Given the description of an element on the screen output the (x, y) to click on. 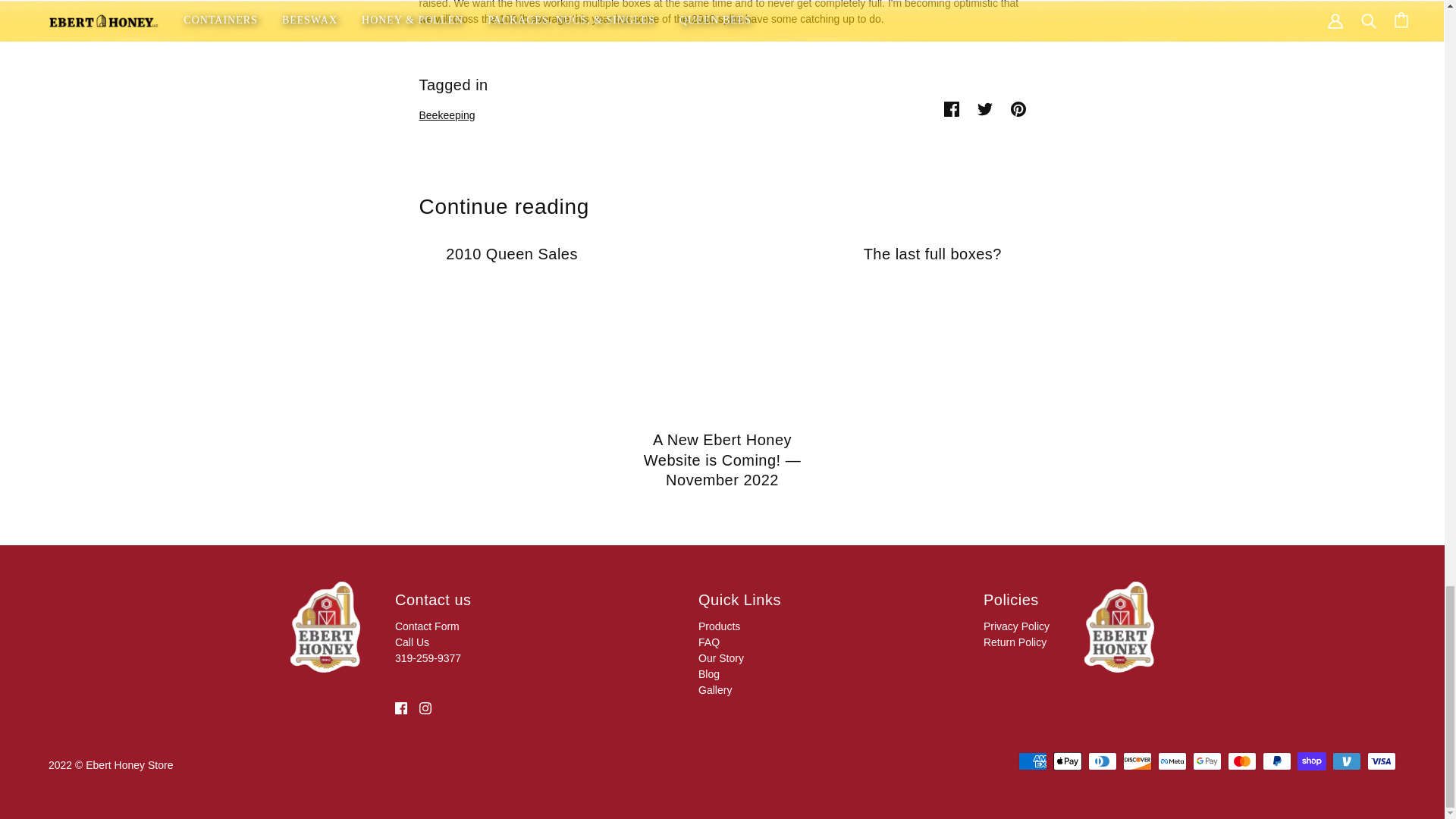
Apple Pay (1066, 761)
Privacy Policy (1016, 625)
Blog (708, 674)
Our Story (721, 657)
Visa (1381, 761)
Blog (708, 674)
Diners Club (1101, 761)
Gallery (715, 689)
PayPal (1276, 761)
tel:3192599377 (427, 650)
Google Pay (1206, 761)
Contact Form (427, 625)
American Express (1031, 761)
Mastercard (1241, 761)
Return Policy (1015, 642)
